Given the description of an element on the screen output the (x, y) to click on. 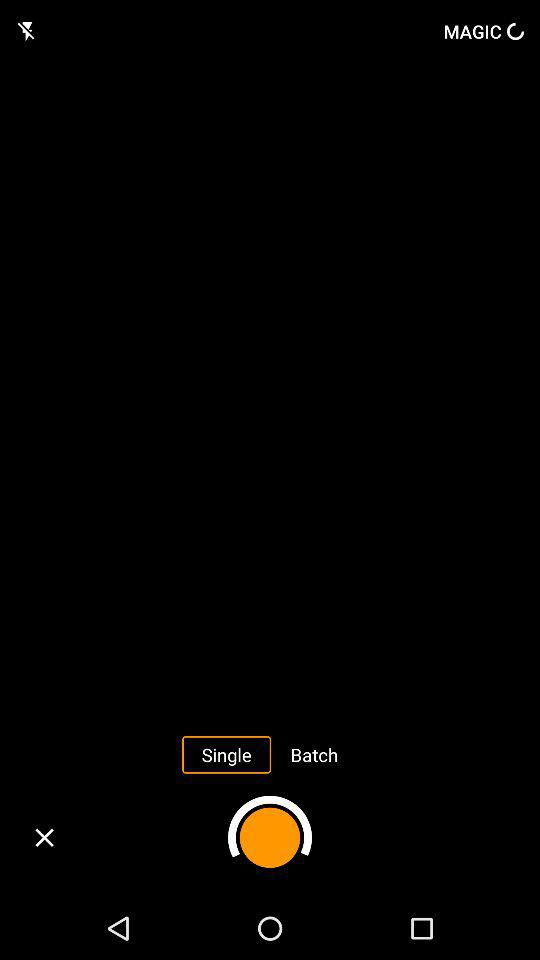
turn off the icon at the top right corner (483, 31)
